Given the description of an element on the screen output the (x, y) to click on. 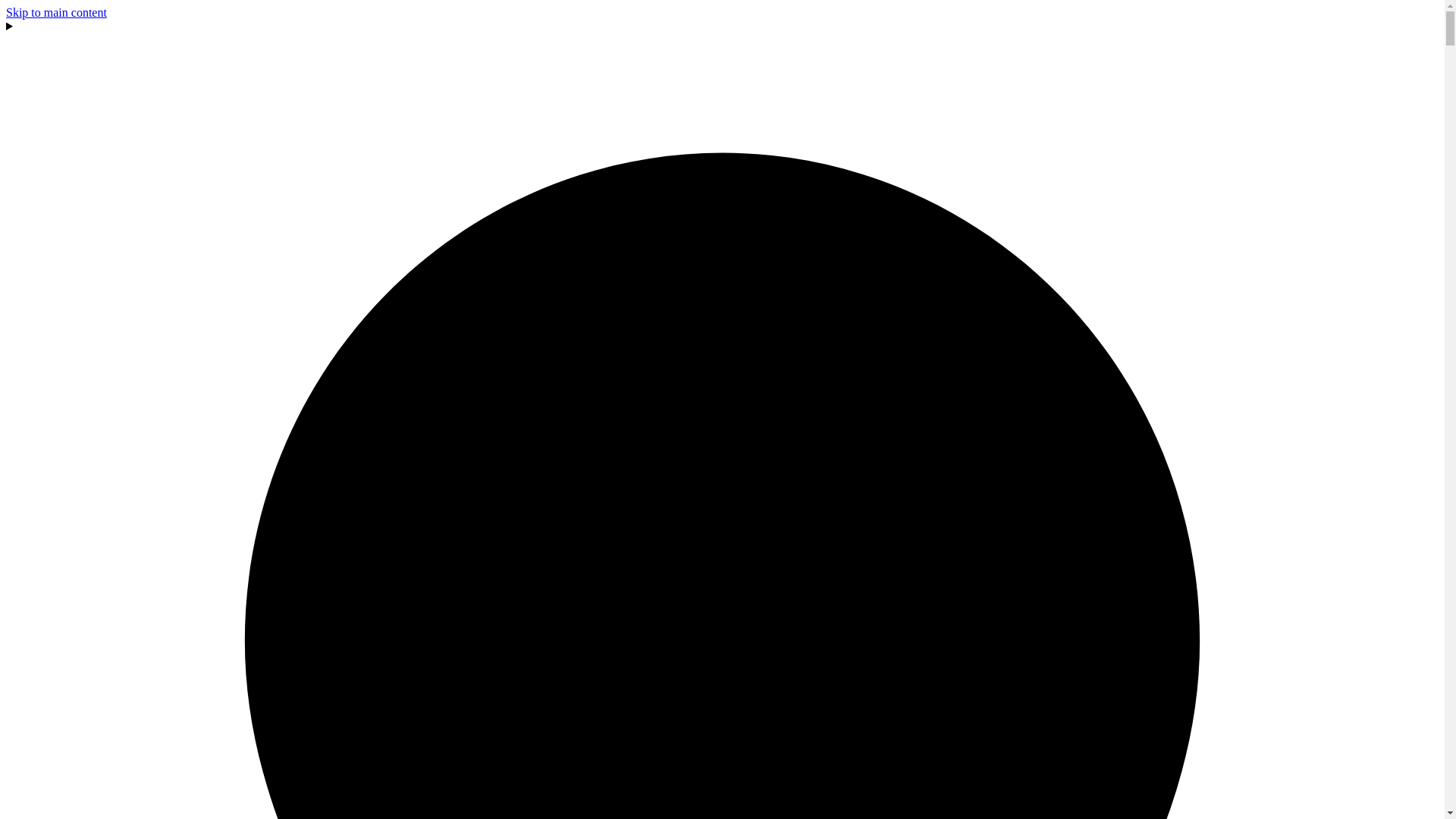
Skip to main content (55, 11)
